Given the description of an element on the screen output the (x, y) to click on. 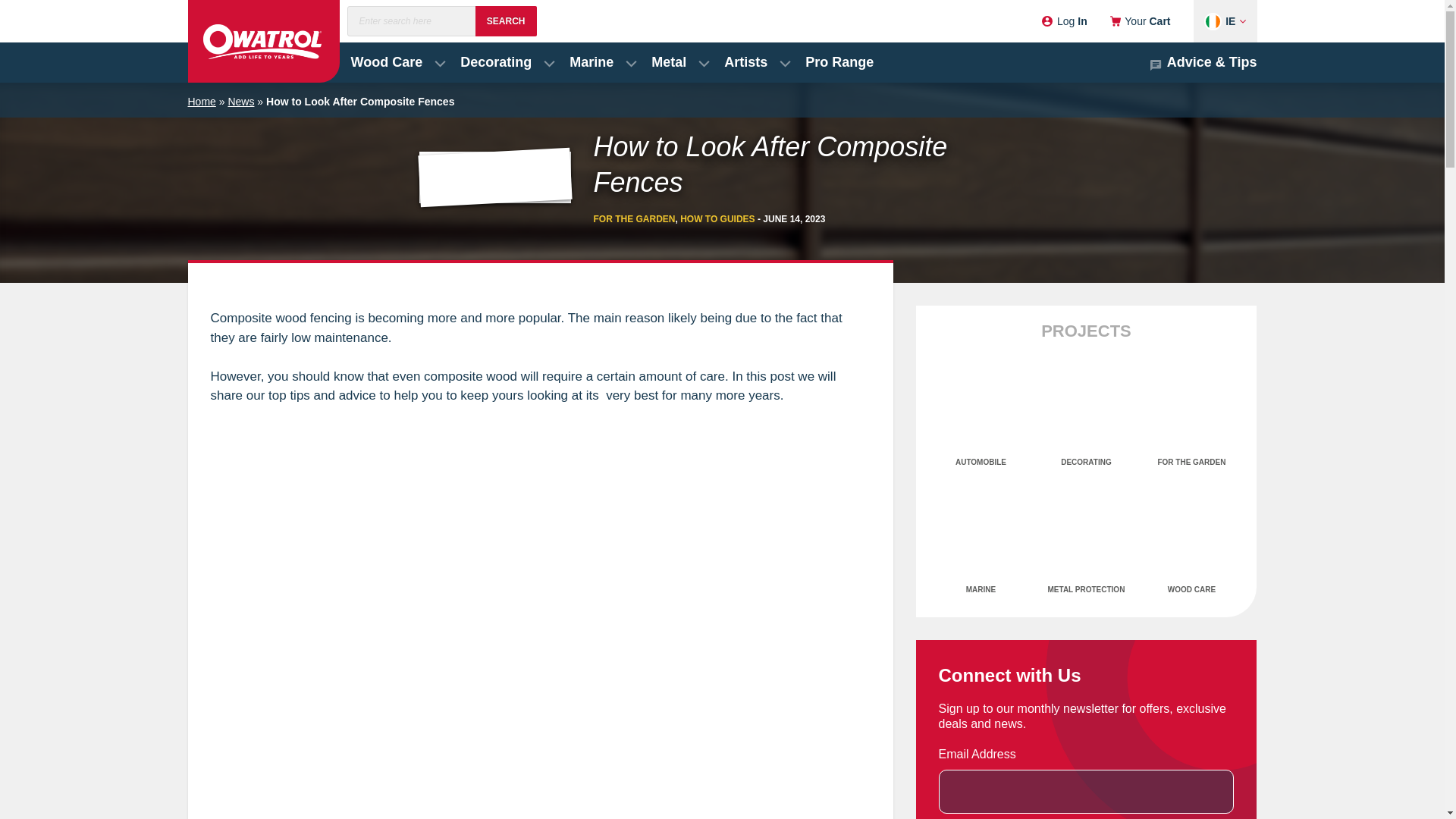
Marine (598, 62)
SEARCH (506, 20)
Your Cart (1139, 21)
Wood Care (394, 62)
Decorating (502, 62)
Log In (1064, 21)
